Given the description of an element on the screen output the (x, y) to click on. 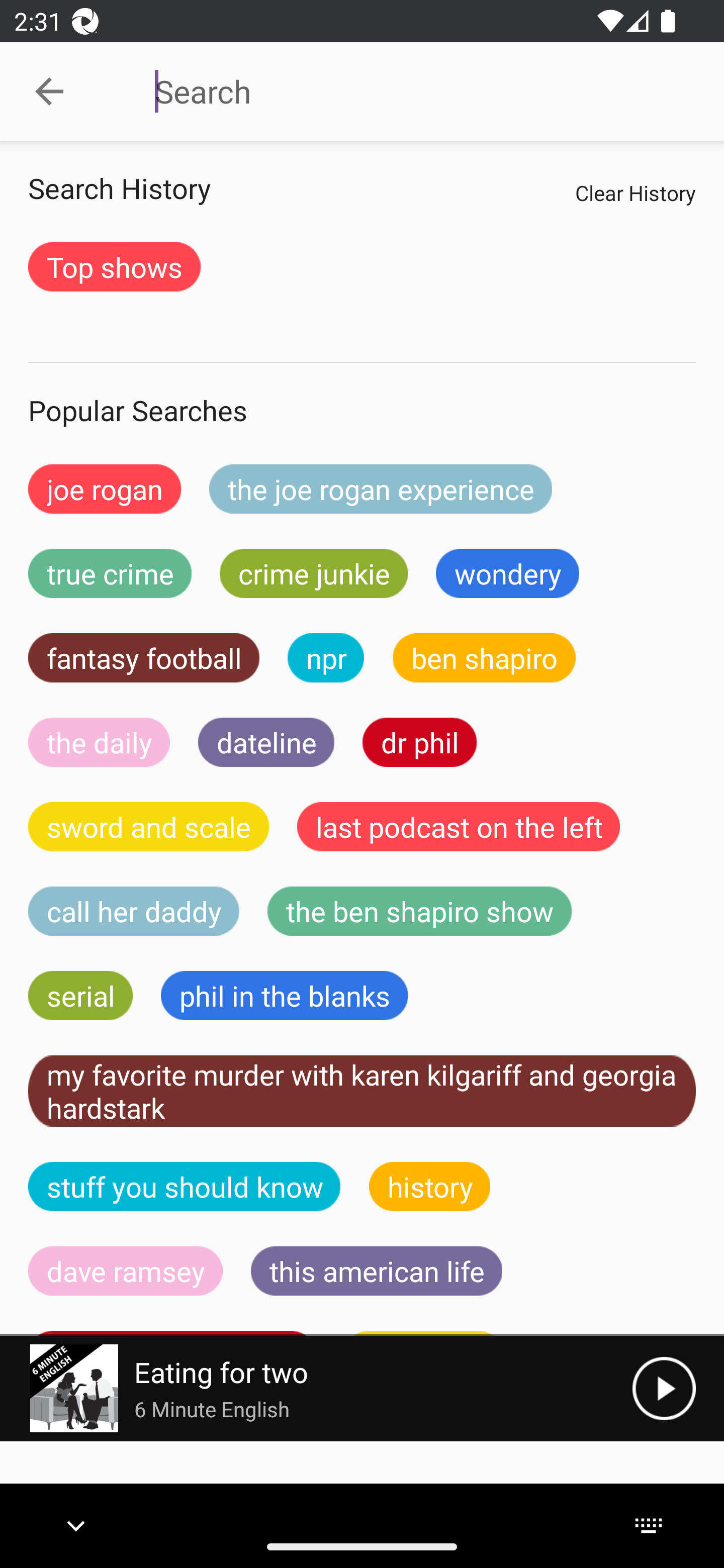
Collapse (49, 91)
Search (407, 91)
Clear History (634, 192)
Top shows (114, 266)
joe rogan (104, 489)
the joe rogan experience (380, 489)
true crime (109, 572)
crime junkie (313, 572)
wondery (507, 572)
fantasy football (143, 657)
npr (325, 657)
ben shapiro (483, 657)
the daily (99, 742)
dateline (266, 742)
dr phil (419, 742)
sword and scale (148, 826)
last podcast on the left (458, 826)
call her daddy (133, 910)
the ben shapiro show (419, 910)
serial (80, 995)
phil in the blanks (283, 995)
stuff you should know (184, 1185)
history (429, 1185)
dave ramsey (125, 1270)
this american life (376, 1270)
Picture Eating for two 6 Minute English (316, 1388)
Play (663, 1388)
